Given the description of an element on the screen output the (x, y) to click on. 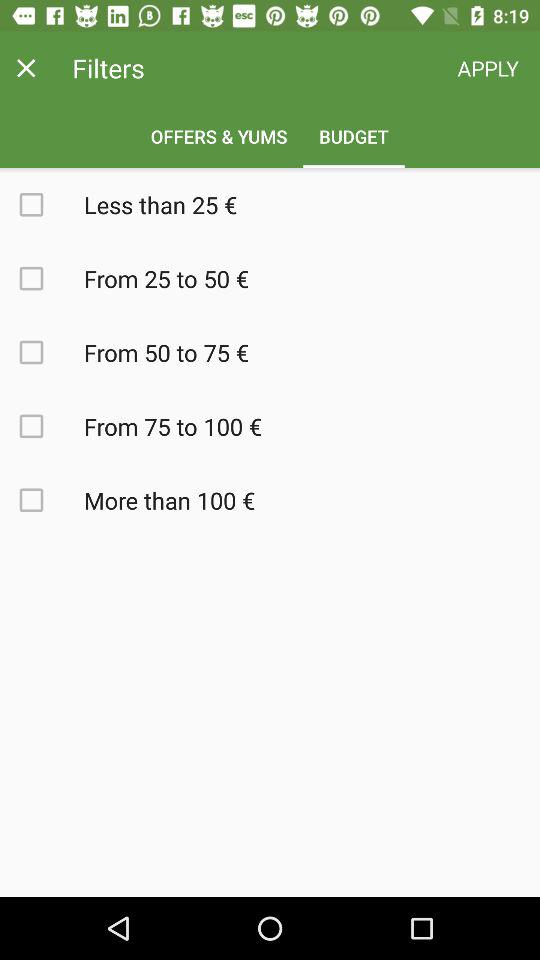
close window (26, 68)
